Given the description of an element on the screen output the (x, y) to click on. 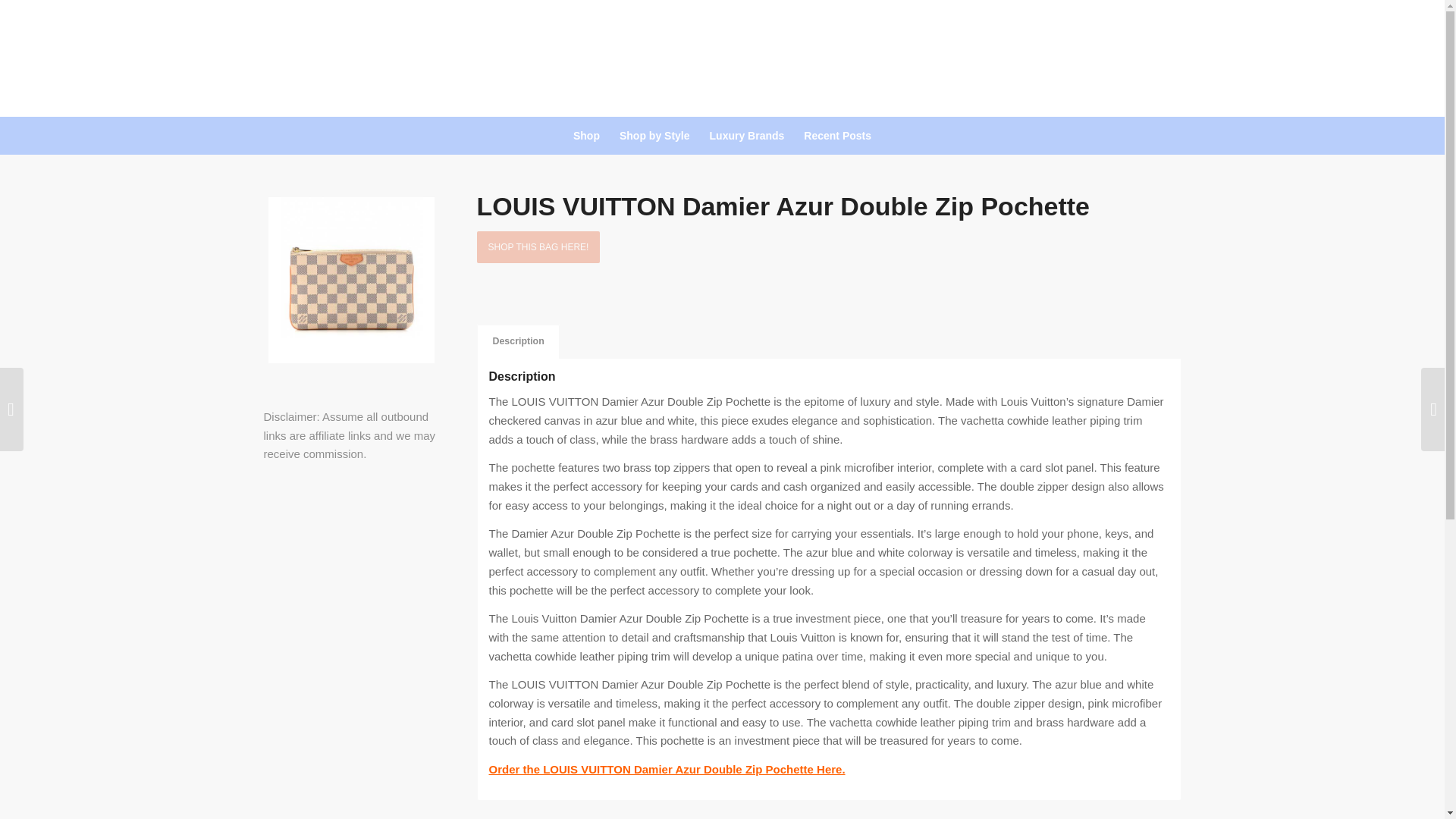
SHOP THIS BAG HERE! (537, 246)
Shop (586, 135)
Description (517, 341)
logo-bestluxurybags (722, 58)
Luxury Brands (747, 135)
Description (517, 341)
LOUIS-VUITTON-Damier-Azur-Double-Zip-Pochette (350, 280)
Shop by Style (655, 135)
Recent Posts (836, 135)
